Given the description of an element on the screen output the (x, y) to click on. 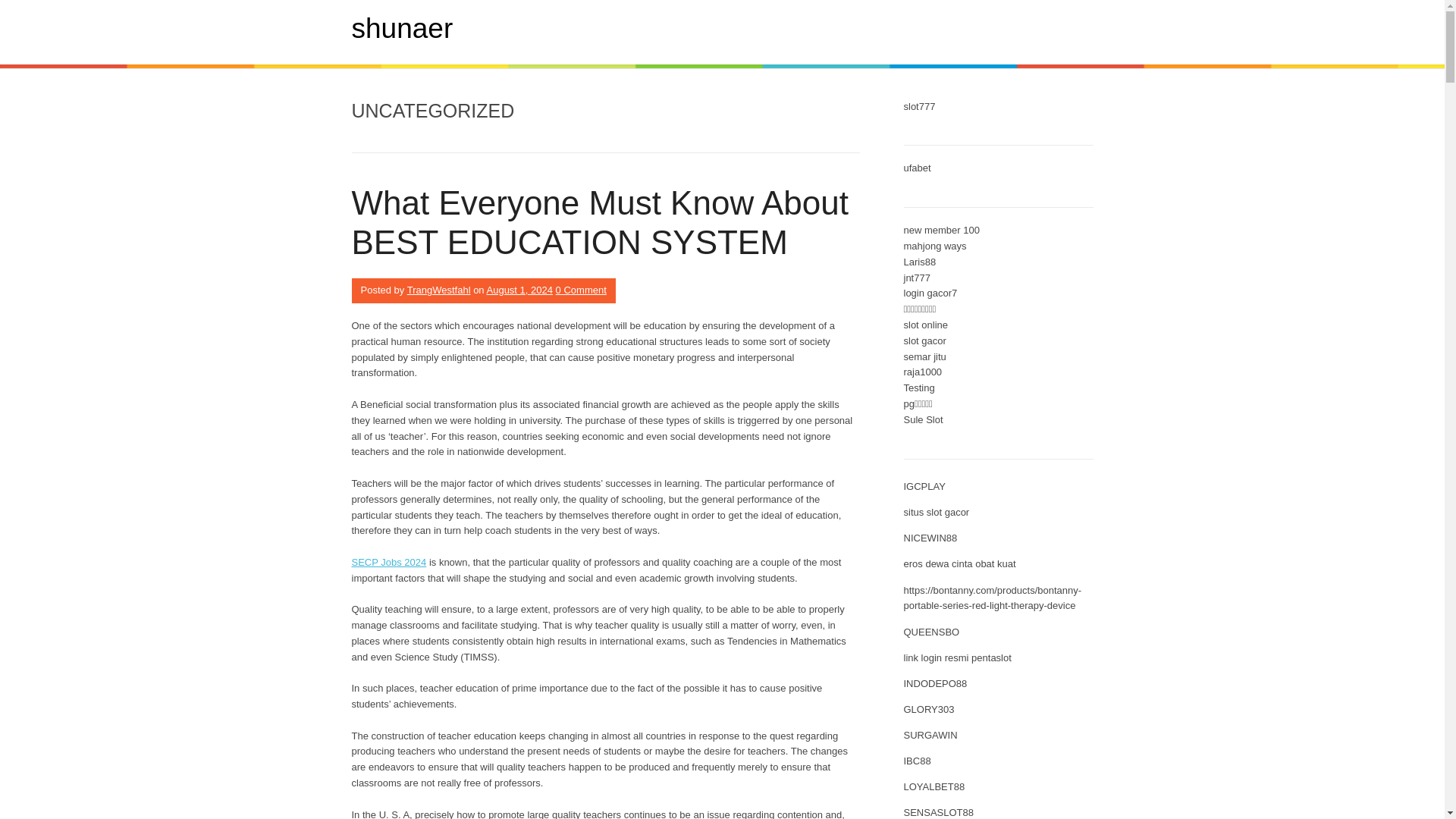
0 Comment (581, 289)
slot online (926, 324)
jnt777 (917, 277)
ufabet (917, 167)
What Everyone Must Know About BEST EDUCATION SYSTEM (600, 222)
slot777 (920, 106)
shunaer (402, 28)
TrangWestfahl (438, 289)
August 1, 2024 (519, 289)
mahjong ways (935, 245)
login gacor7 (931, 292)
SECP Jobs 2024 (389, 562)
Laris88 (920, 261)
Skip to content (32, 7)
new member 100 (941, 229)
